Given the description of an element on the screen output the (x, y) to click on. 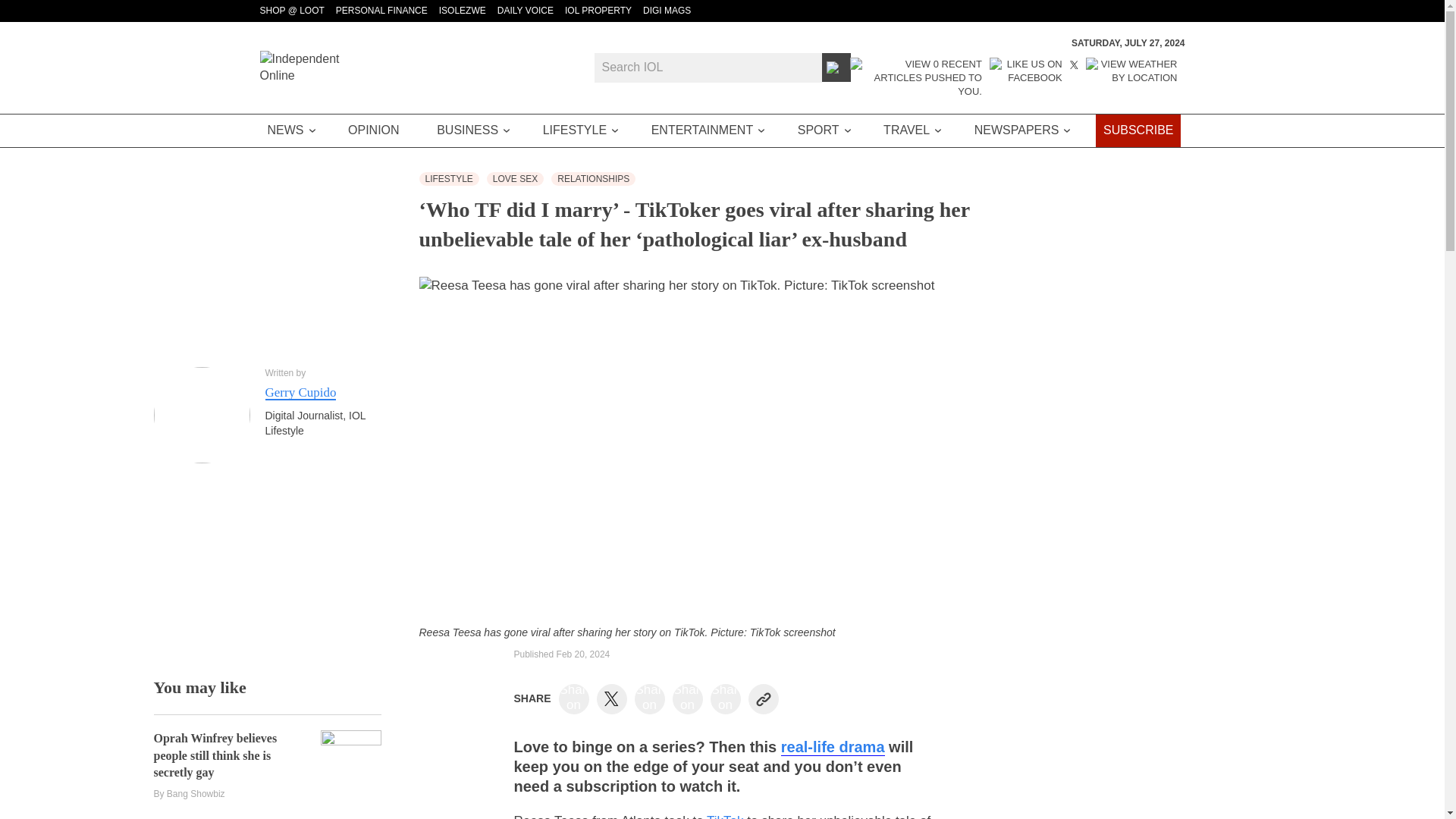
Copy to Clipboard (763, 698)
Like us on Facebook (1026, 78)
Share on Twitter (611, 698)
